Given the description of an element on the screen output the (x, y) to click on. 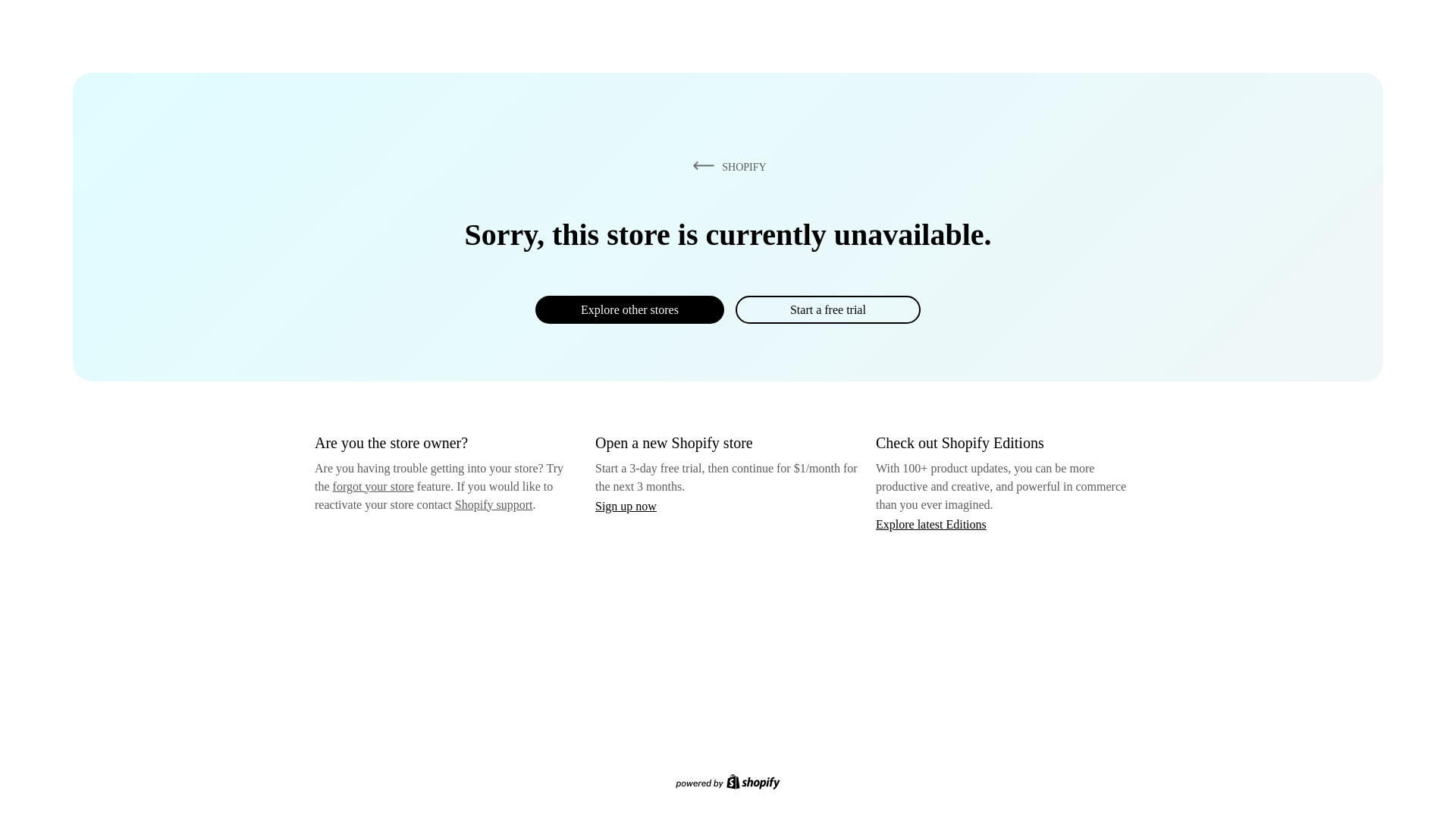
Explore other stores (629, 309)
SHOPIFY (726, 166)
Shopify support (493, 504)
forgot your store (373, 486)
Start a free trial (827, 309)
Sign up now (625, 505)
Explore latest Editions (931, 523)
